Given the description of an element on the screen output the (x, y) to click on. 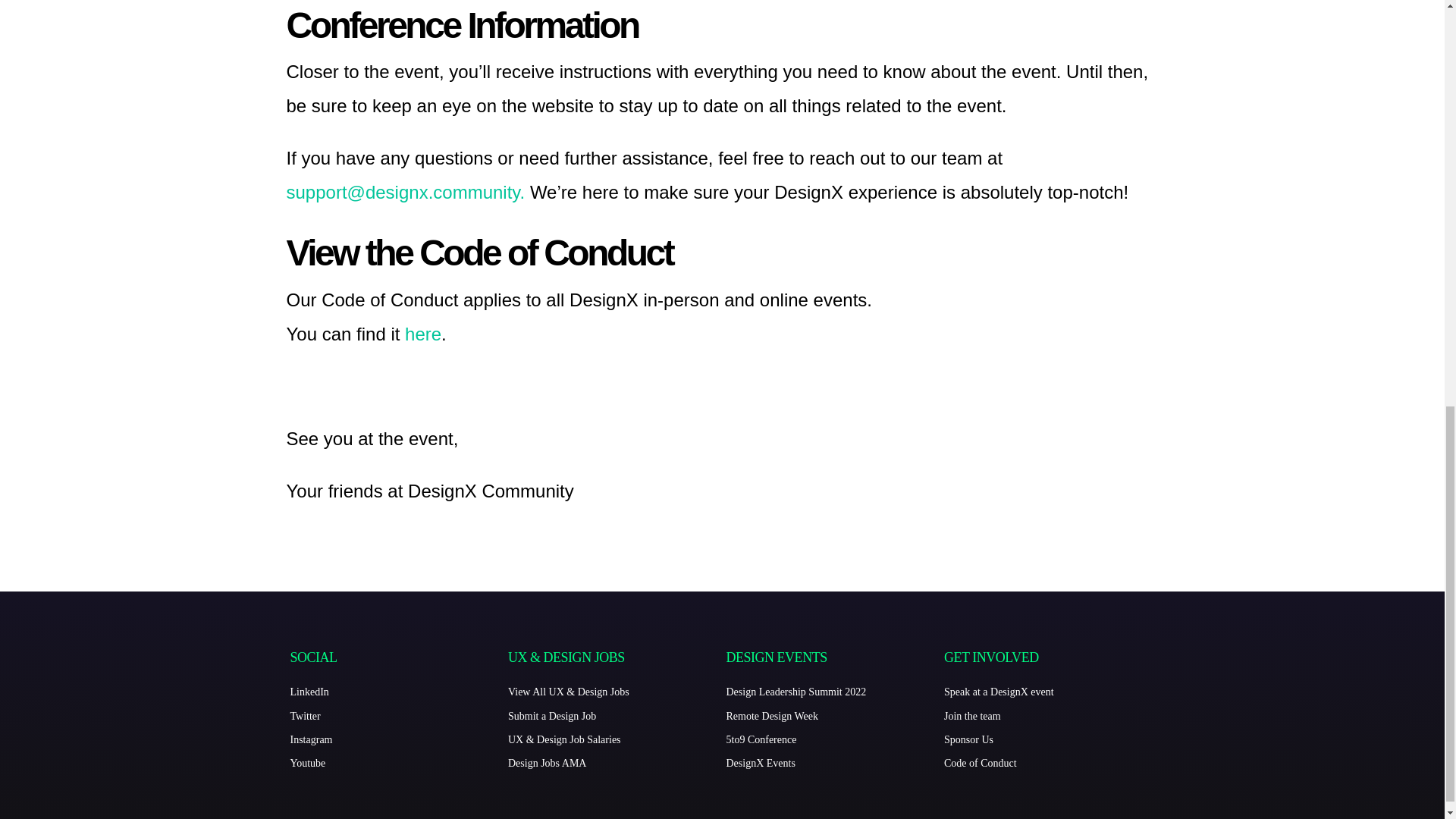
5to9 Conference (831, 740)
Join the team (1048, 716)
Submit a Design Job (613, 716)
here (422, 333)
Design Leadership Summit 2022 (831, 691)
Instagram (394, 740)
Twitter (394, 716)
LinkedIn (394, 691)
Speak at a DesignX event (1048, 691)
Remote Design Week (831, 716)
Sponsor Us (1048, 740)
